Given the description of an element on the screen output the (x, y) to click on. 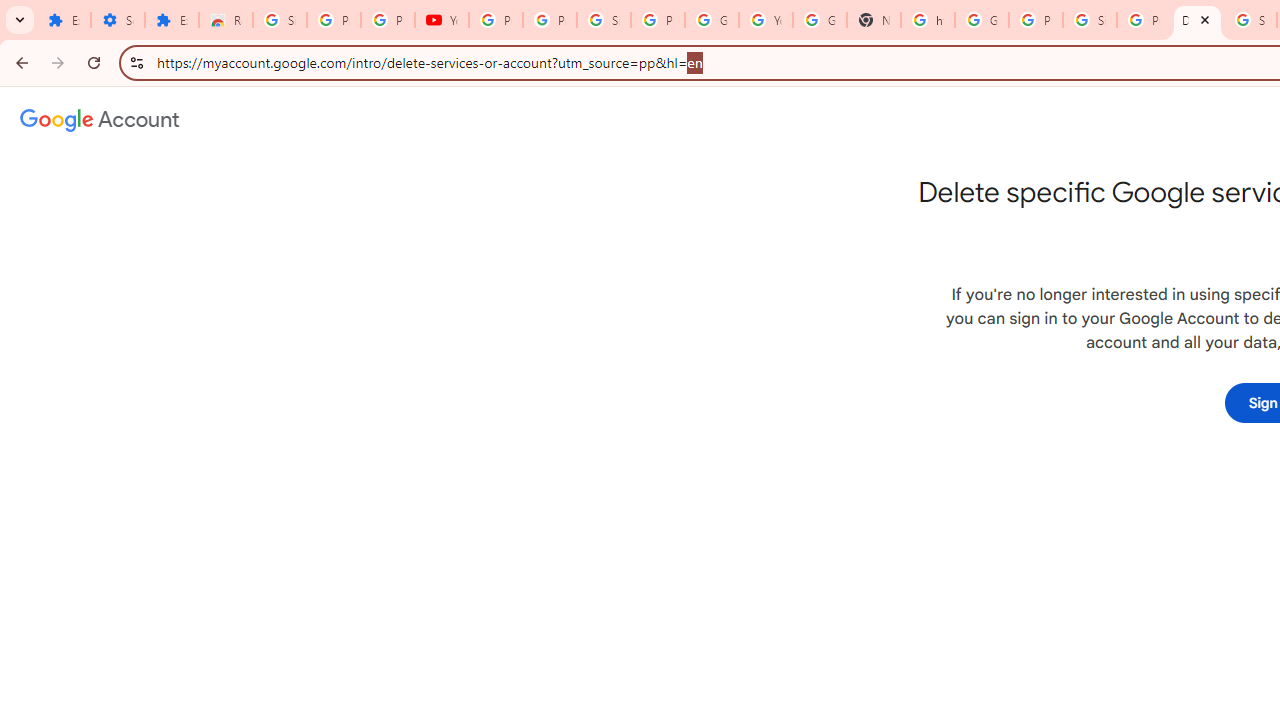
Reviews: Helix Fruit Jump Arcade Game (225, 20)
Extensions (171, 20)
YouTube (765, 20)
Sign in - Google Accounts (604, 20)
Google Account (711, 20)
Delete specific Google services or your Google Account (1197, 20)
Sign in - Google Accounts (1089, 20)
https://scholar.google.com/ (927, 20)
